Given the description of an element on the screen output the (x, y) to click on. 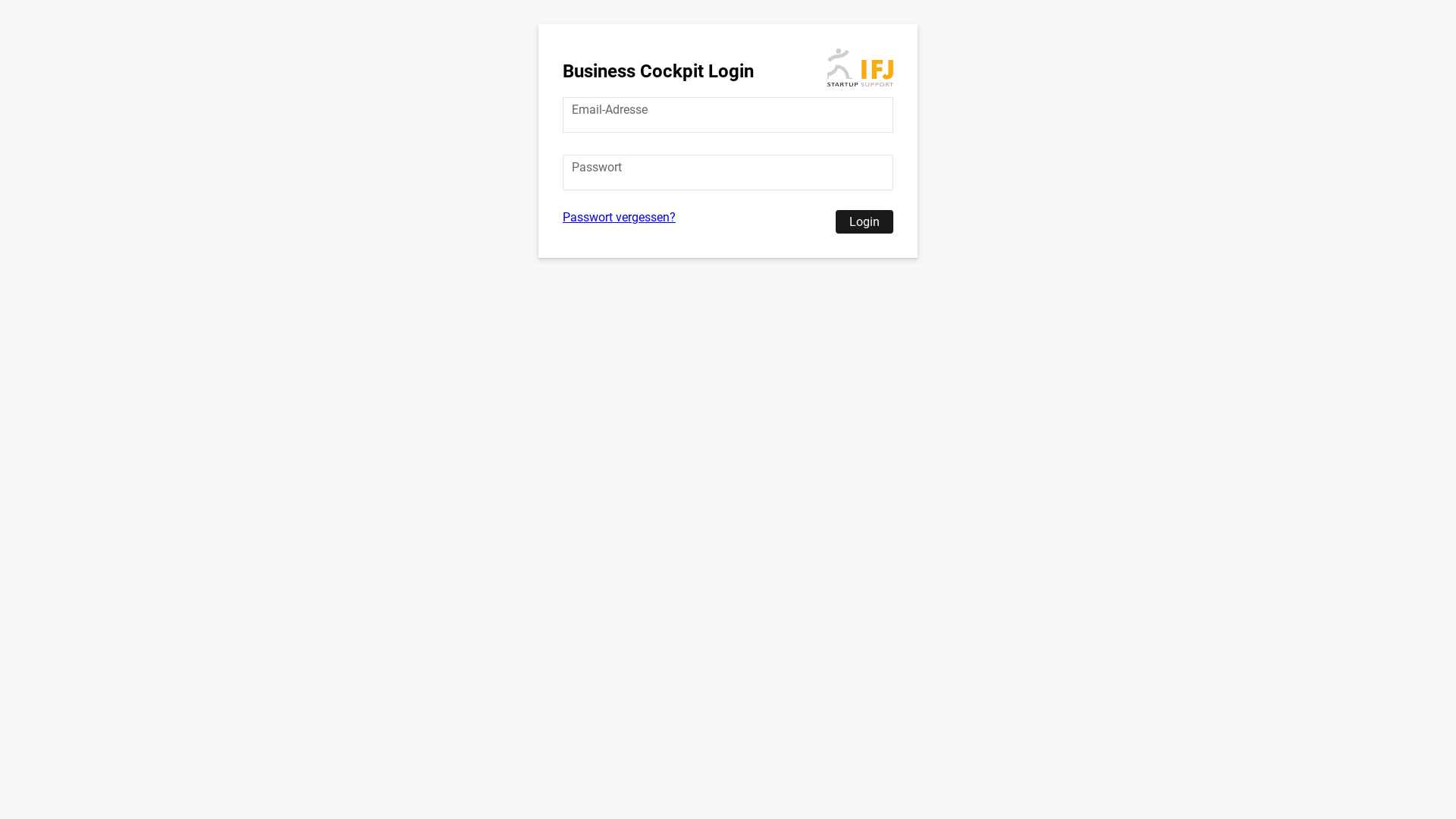
Login Element type: text (864, 221)
Passwort vergessen? Element type: text (618, 217)
